Given the description of an element on the screen output the (x, y) to click on. 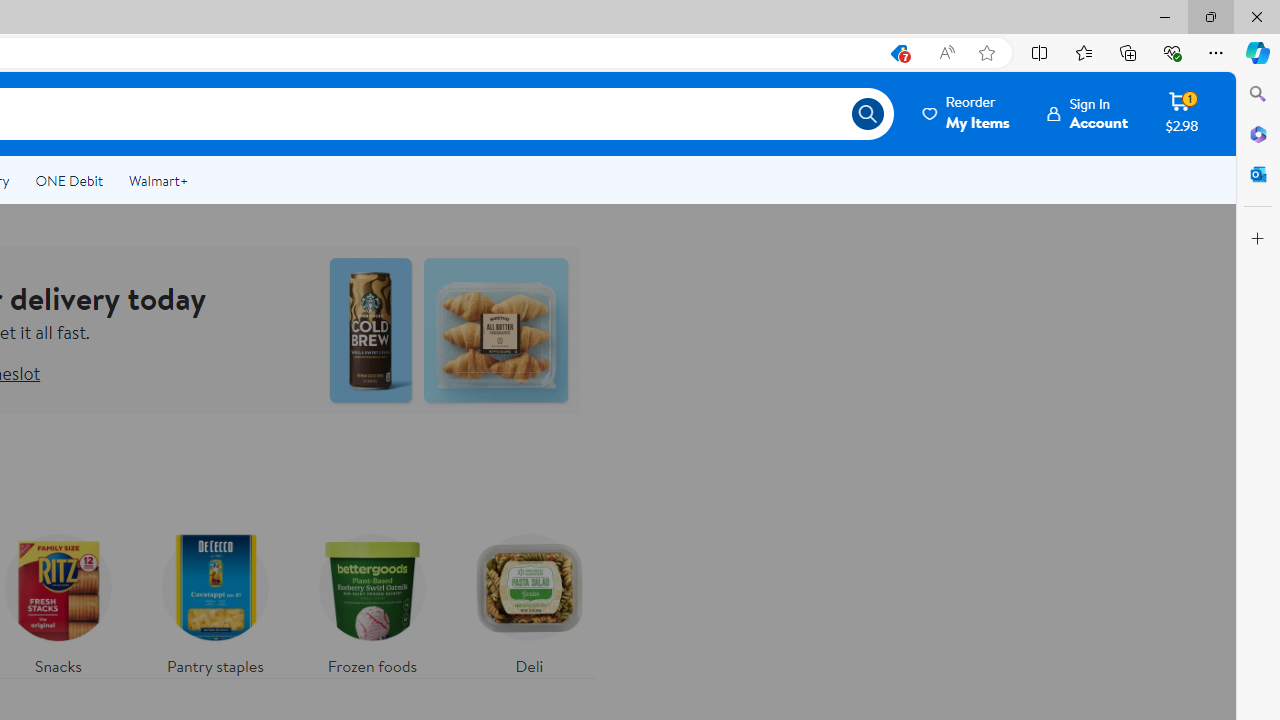
ONE Debit (68, 180)
This site has coupons! Shopping in Microsoft Edge, 7 (898, 53)
Deli (529, 599)
Pantry staples (214, 599)
Sign InAccount (1088, 113)
Cart contains 1 item Total Amount $2.98 (1182, 113)
Frozen foods (371, 599)
Reorder My Items (967, 113)
